Given the description of an element on the screen output the (x, y) to click on. 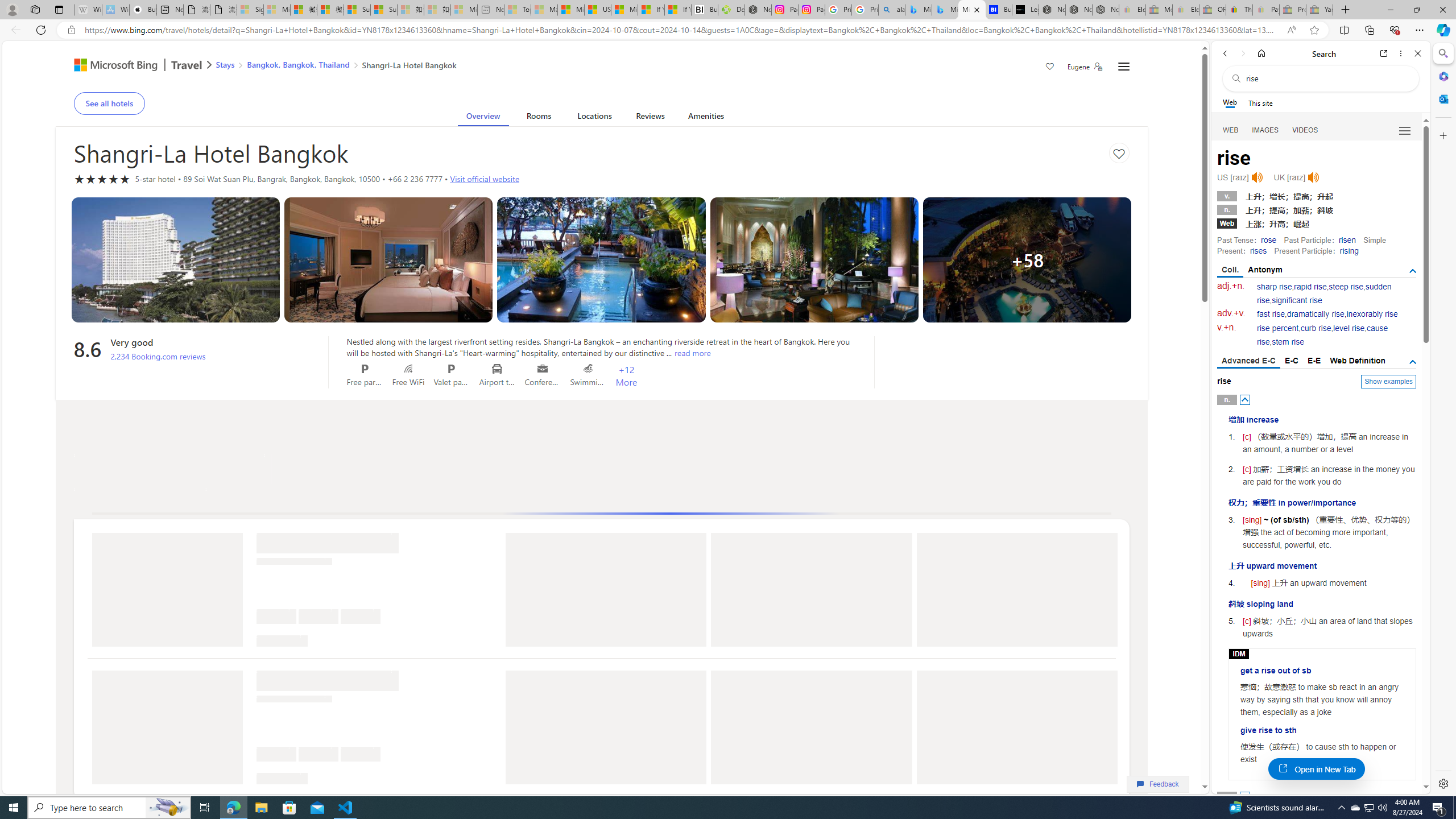
Amenities (705, 118)
Overview (483, 118)
Airport transportation (497, 368)
+12 More Amenities (626, 375)
sudden rise (1323, 293)
See all hotels (108, 102)
level rise (1349, 328)
5-star hotel  (101, 179)
E-E (1314, 360)
stem rise (1287, 341)
Hotel room image + 58 (1026, 259)
